Given the description of an element on the screen output the (x, y) to click on. 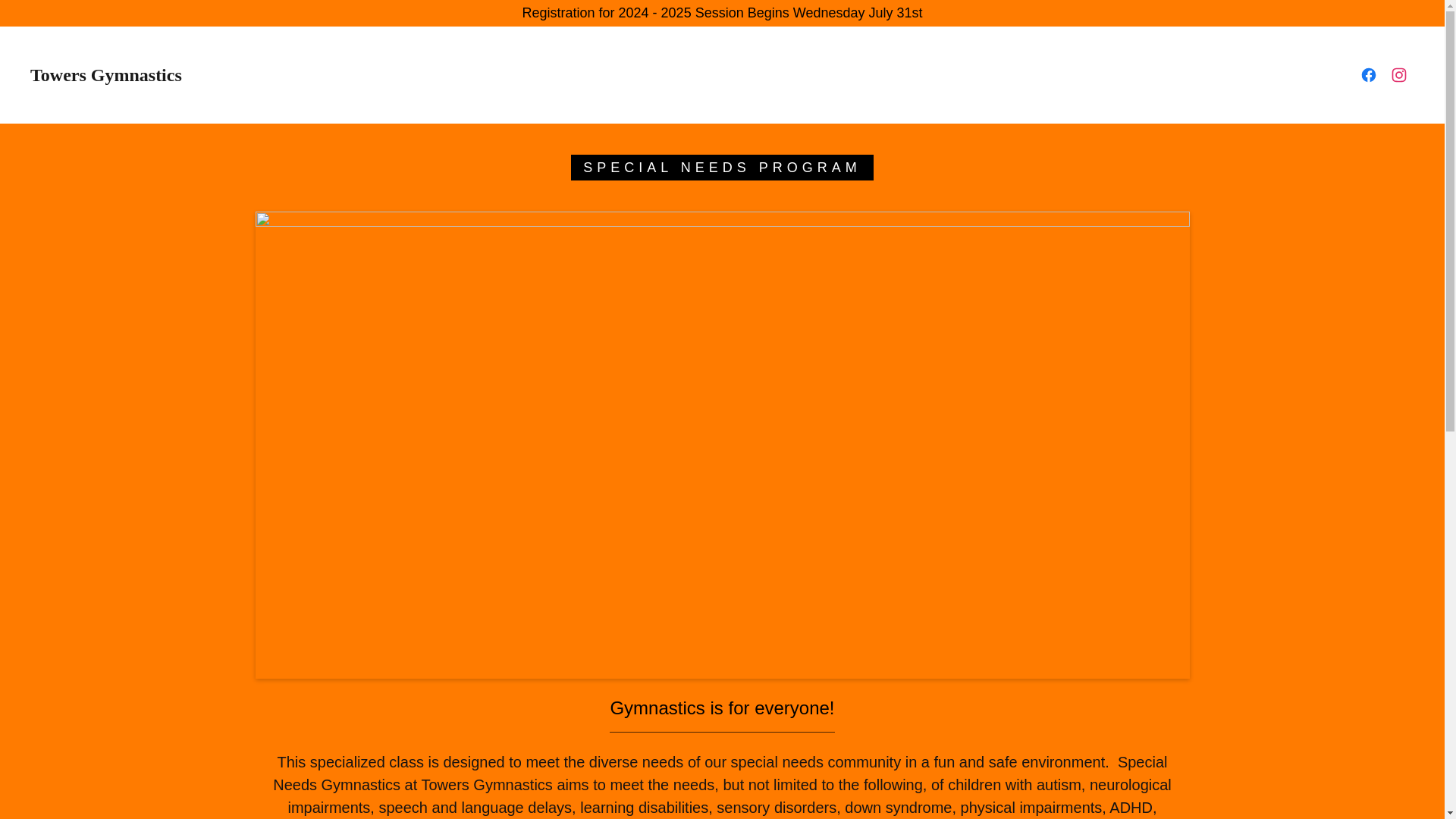
Towers Gymnastics (226, 76)
Towers Gymnastics (226, 76)
